Given the description of an element on the screen output the (x, y) to click on. 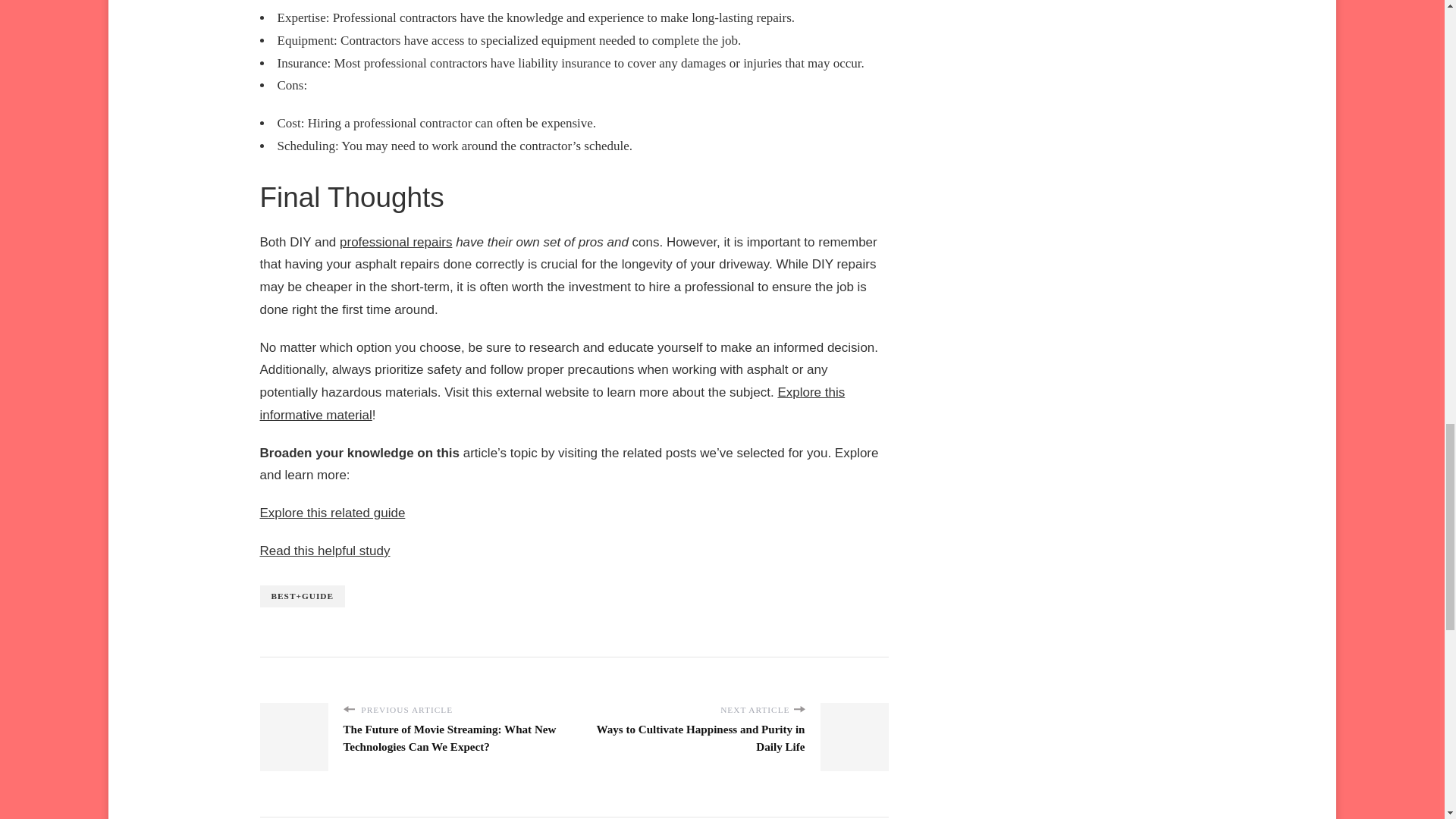
Explore this related guide (331, 513)
Read this helpful study (324, 550)
Explore this informative material (551, 403)
professional repairs (395, 242)
